Given the description of an element on the screen output the (x, y) to click on. 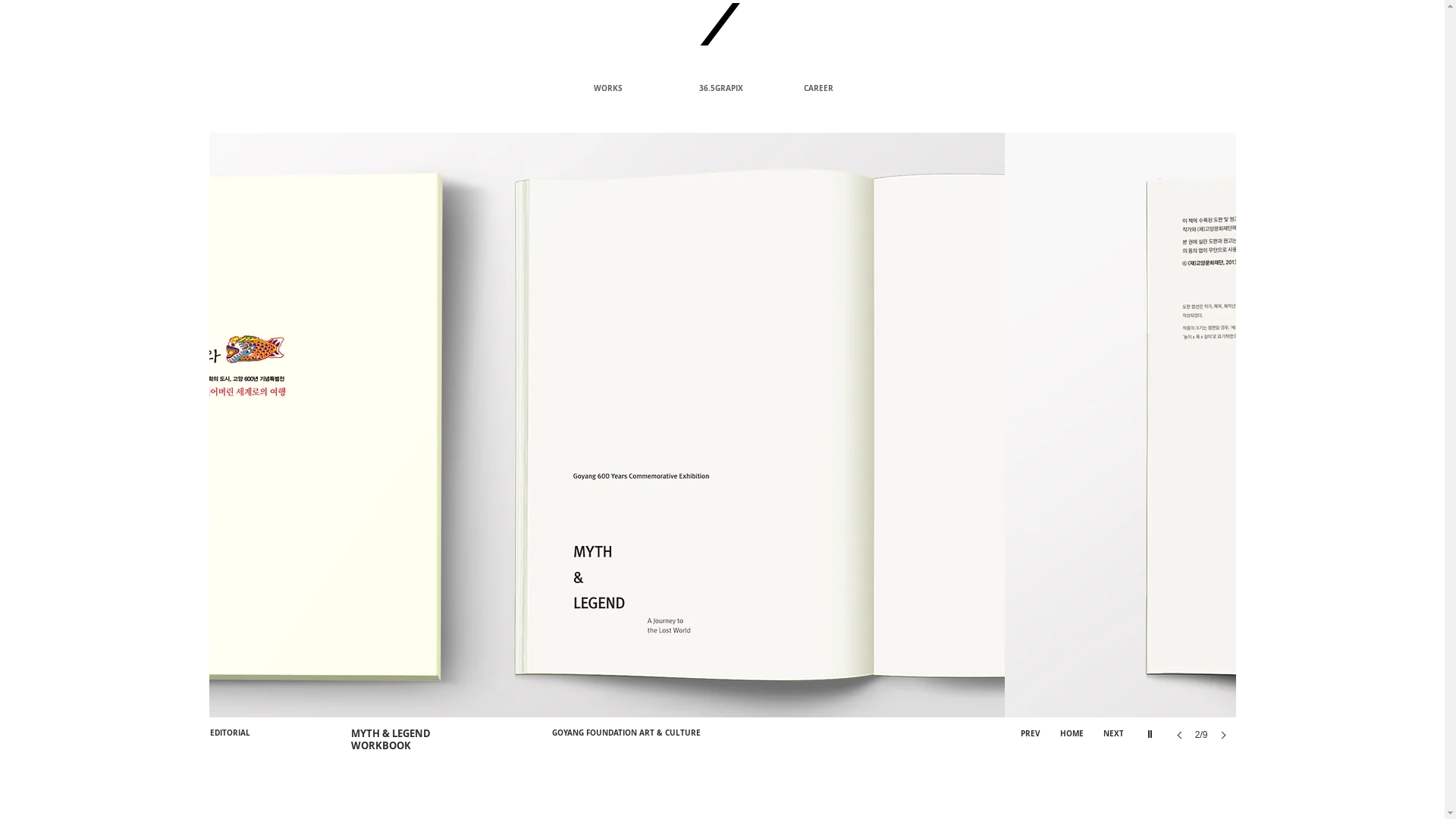
HIDDEN Element type: text (721, 804)
36.5GRAPIX Element type: text (739, 88)
CAREER Element type: text (843, 88)
WORKS Element type: text (634, 88)
motif2.png Element type: hover (719, 24)
